Given the description of an element on the screen output the (x, y) to click on. 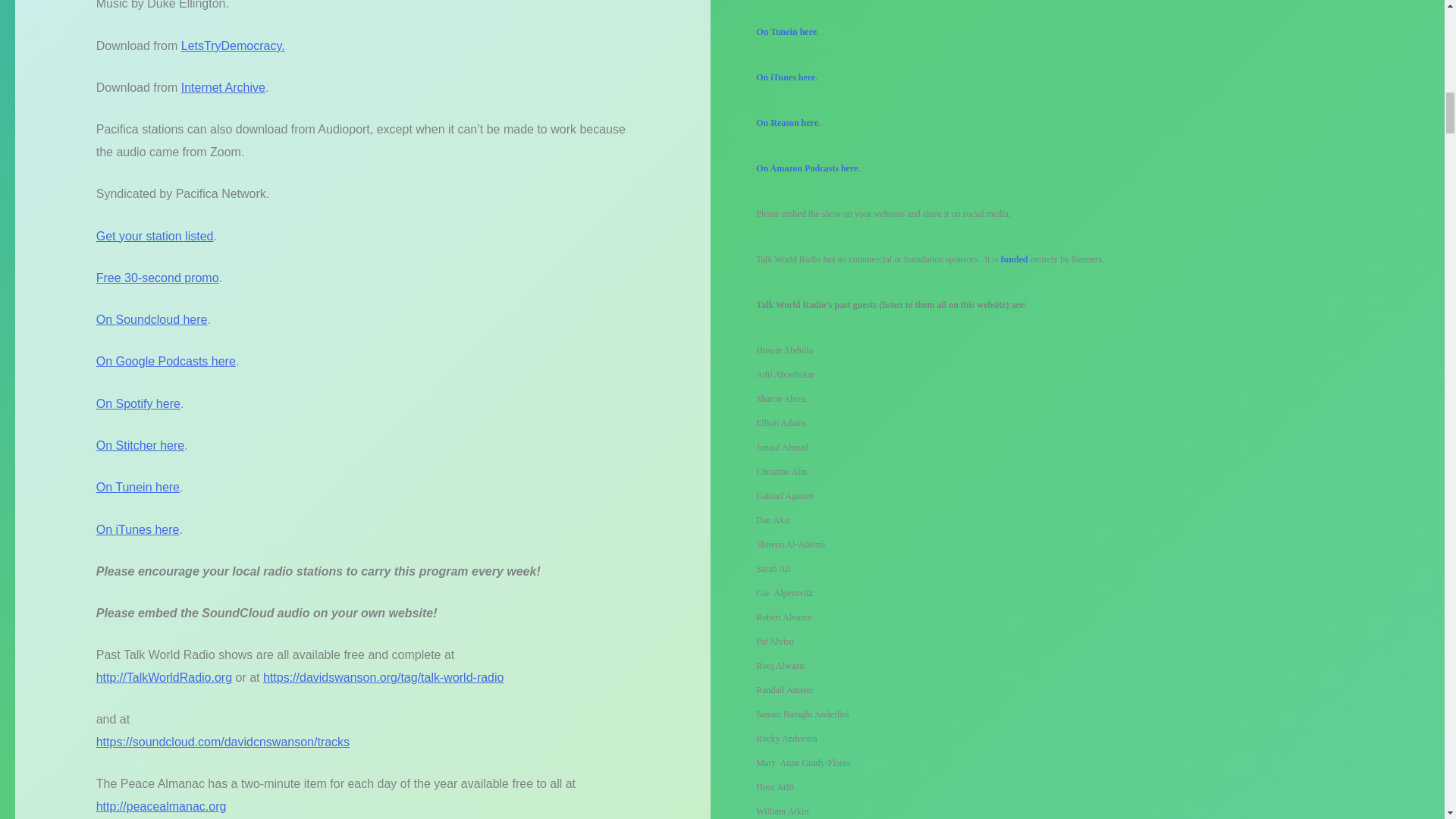
Get your station listed (155, 235)
Free 30-second promo (157, 277)
LetsTryDemocracy. (232, 45)
On Soundcloud here (152, 318)
Internet Archive (222, 87)
